Given the description of an element on the screen output the (x, y) to click on. 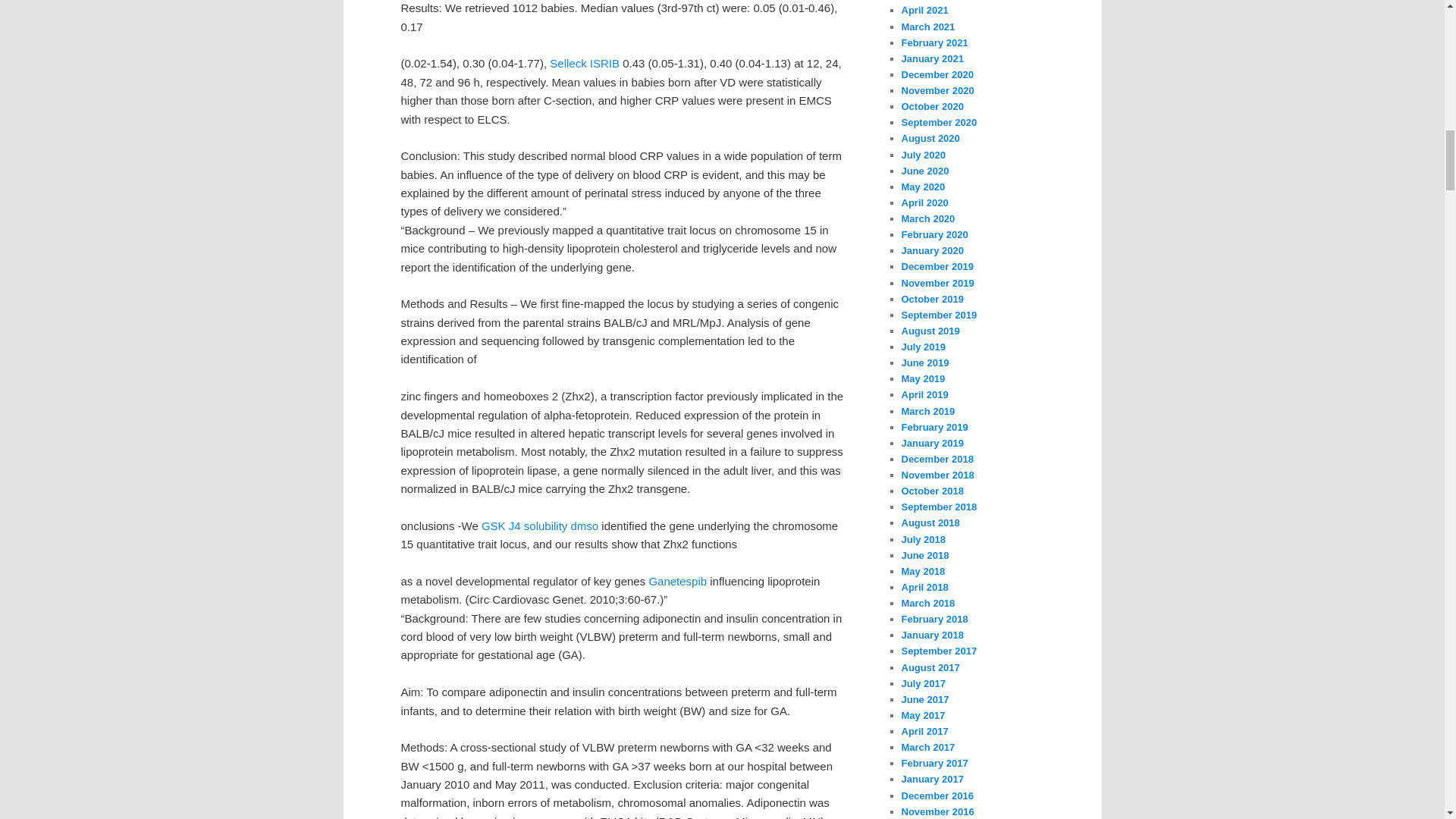
Selleck ISRIB (585, 62)
GSK J4 solubility dmso (539, 525)
Ganetespib (676, 581)
